Given the description of an element on the screen output the (x, y) to click on. 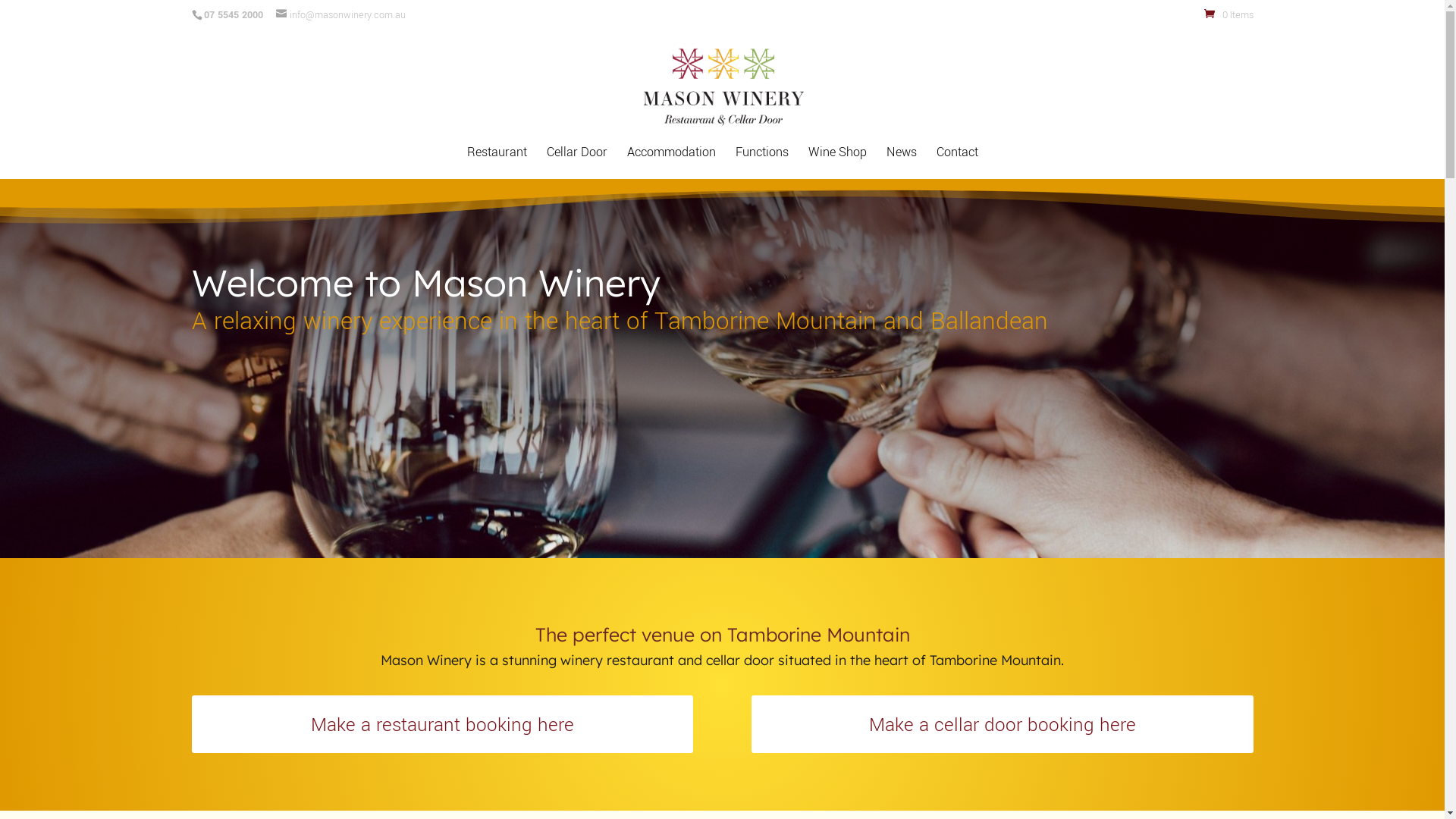
info@masonwinery.com.au Element type: text (340, 14)
Wine Shop Element type: text (837, 162)
Functions Element type: text (761, 162)
Accommodation Element type: text (670, 162)
Cellar Door Element type: text (576, 162)
News Element type: text (900, 162)
0 Items Element type: text (1228, 14)
Restaurant Element type: text (497, 162)
Contact Element type: text (956, 162)
